Given the description of an element on the screen output the (x, y) to click on. 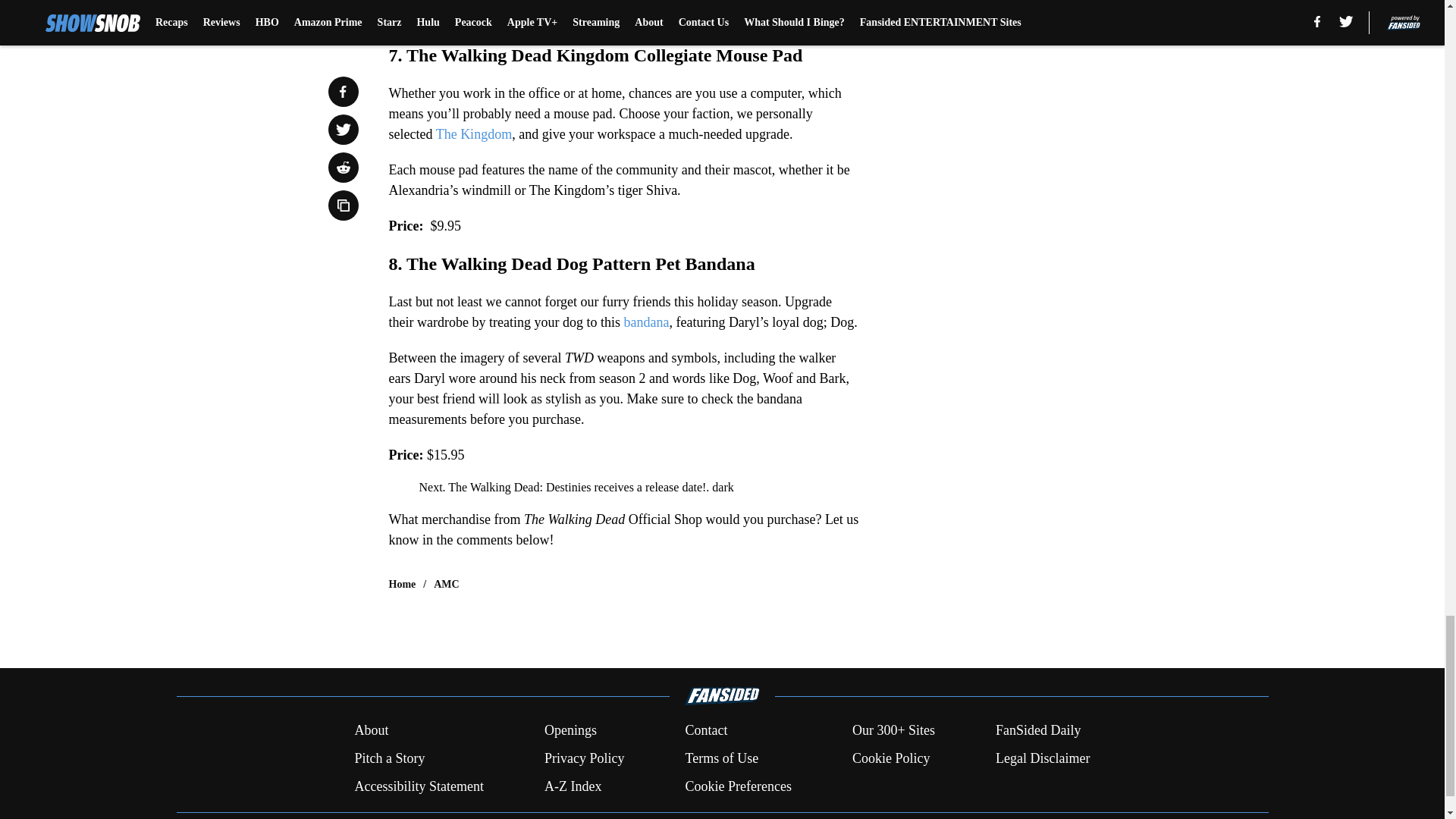
Contact (705, 730)
The Kingdom (473, 133)
Home (401, 584)
Openings (570, 730)
AMC (445, 584)
About (370, 730)
bandana (645, 322)
